Given the description of an element on the screen output the (x, y) to click on. 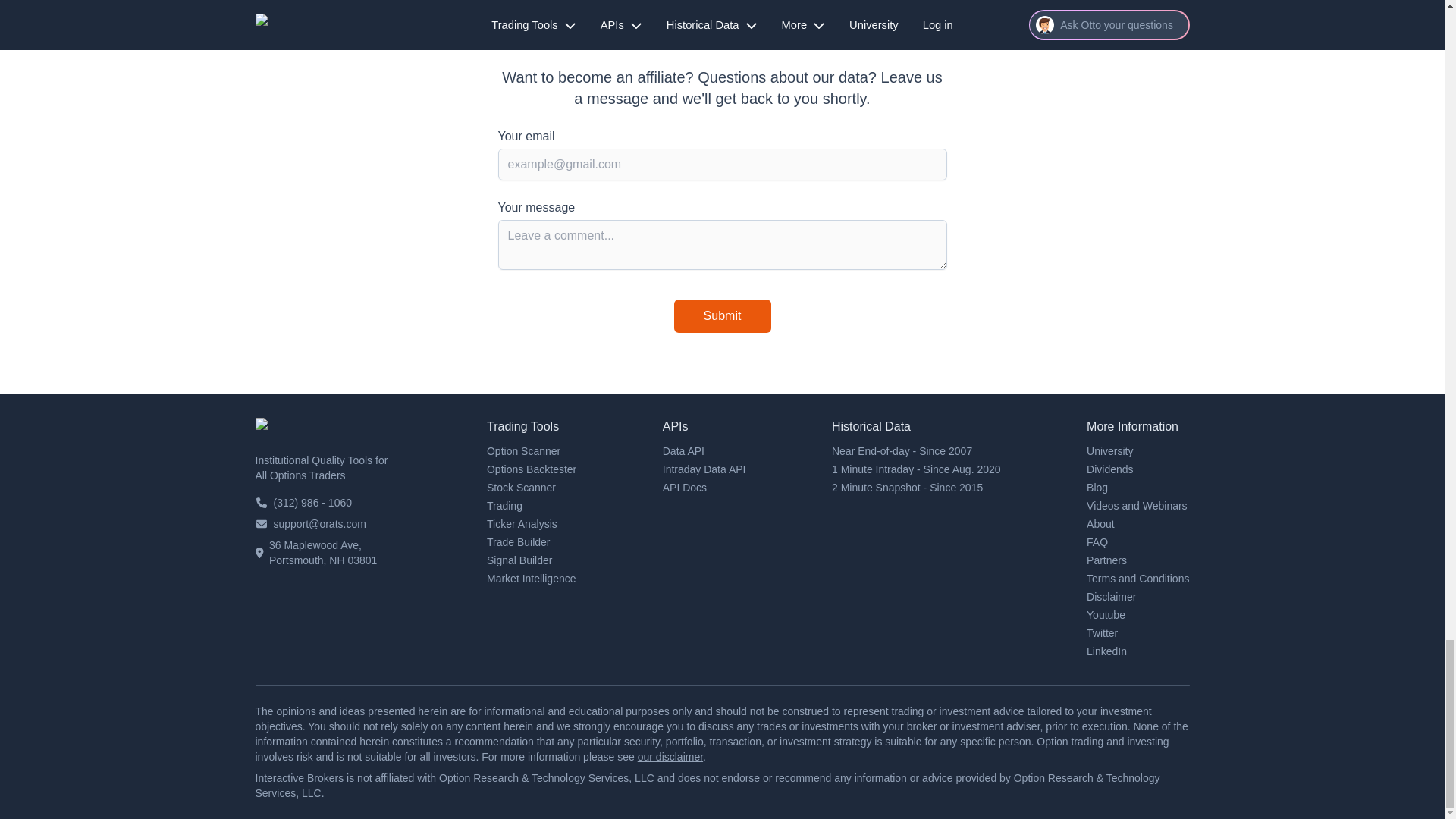
About (1100, 523)
Stock Scanner (521, 487)
Signal Builder (518, 560)
University (1109, 451)
Videos and Webinars (1137, 505)
Market Intelligence (531, 578)
Blog (1097, 487)
Partners (1106, 560)
Trading (504, 505)
Near End-of-day - Since 2007 (901, 451)
Intraday Data API (703, 469)
Option Scanner (523, 451)
Trade Builder (518, 541)
Dividends (1109, 469)
2 Minute Snapshot - Since 2015 (906, 487)
